Given the description of an element on the screen output the (x, y) to click on. 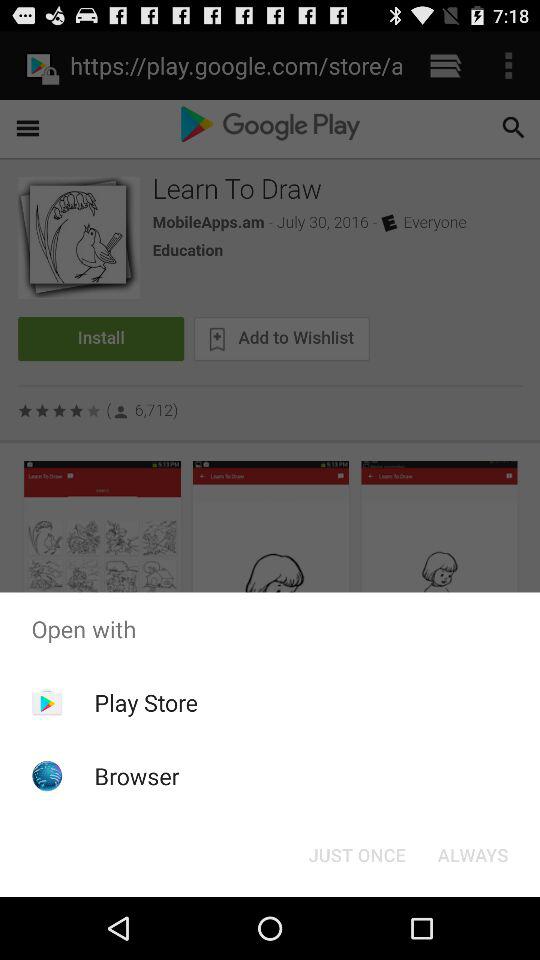
choose browser app (136, 775)
